Given the description of an element on the screen output the (x, y) to click on. 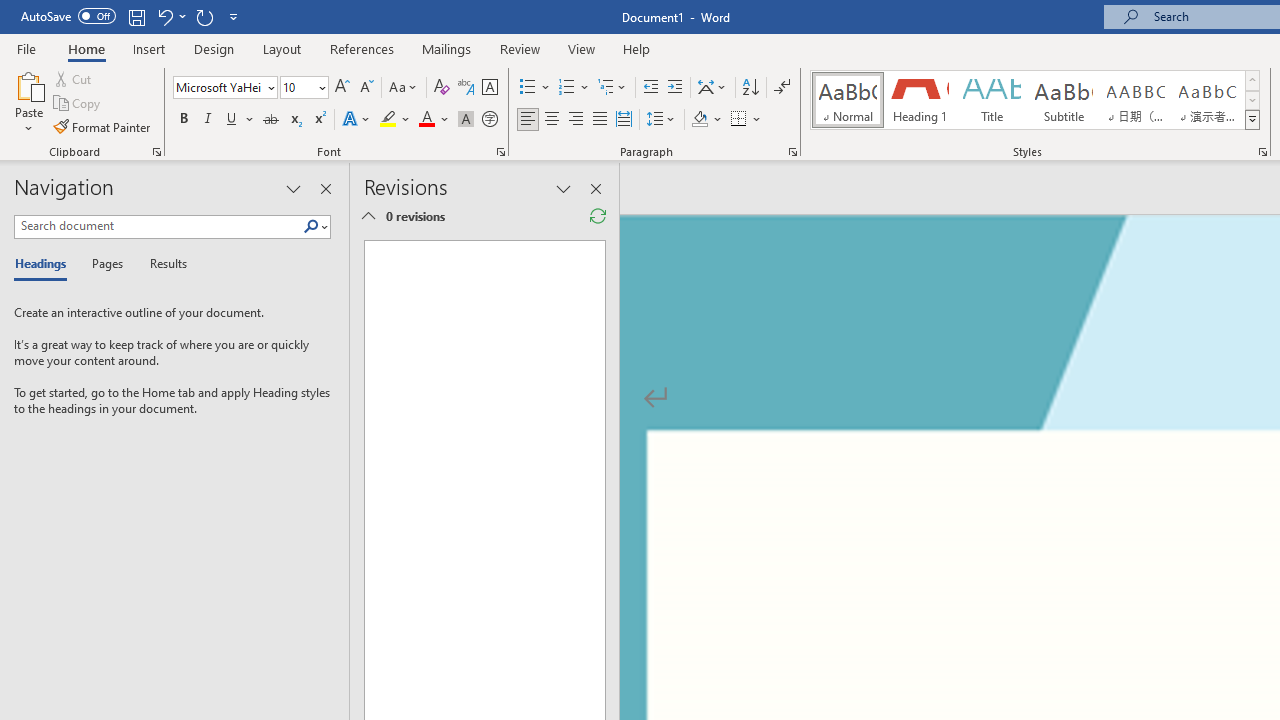
Font Color Red (426, 119)
